Given the description of an element on the screen output the (x, y) to click on. 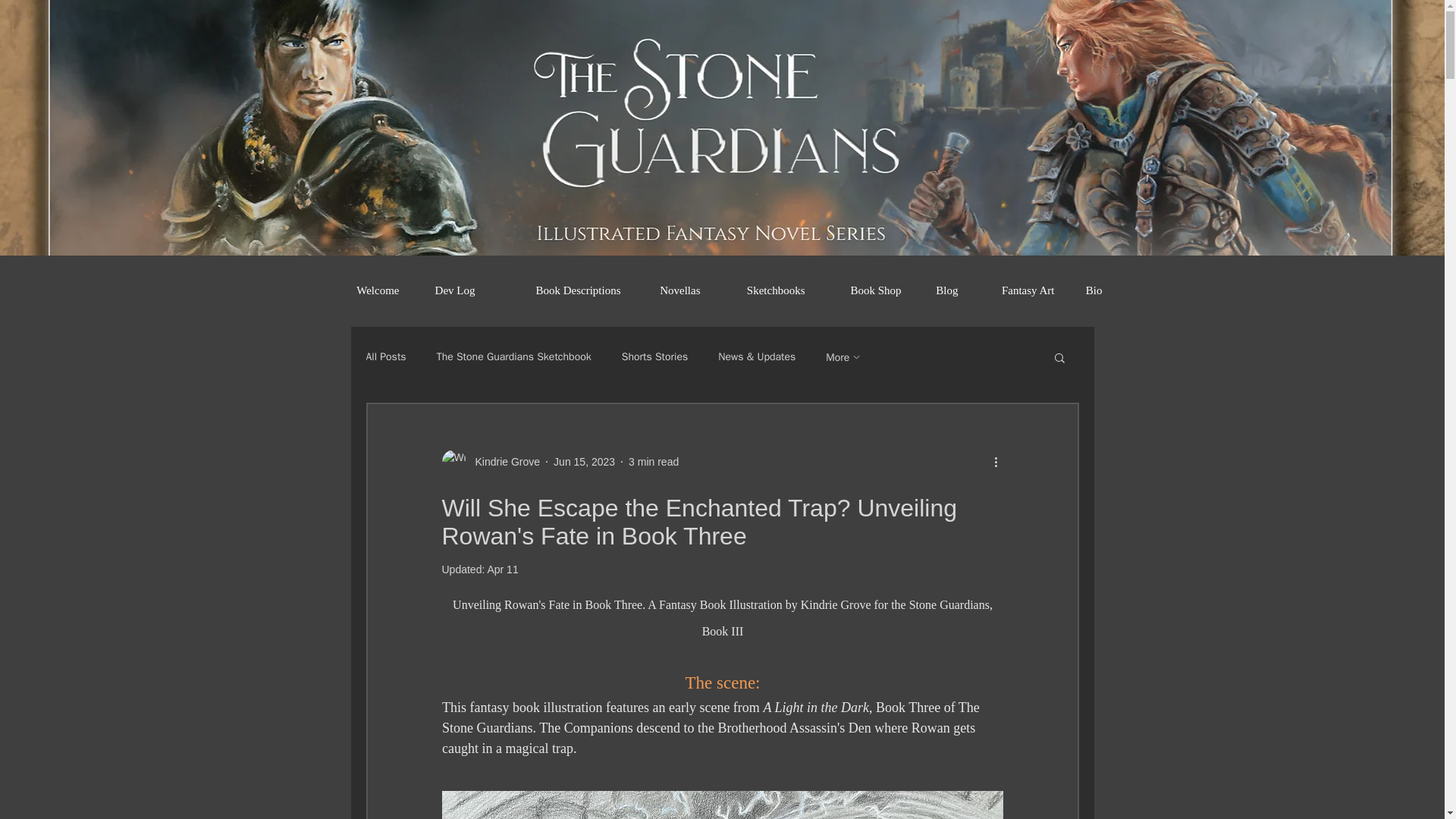
Jun 15, 2023 (583, 460)
Novellas (671, 290)
Sketchbooks (763, 290)
Fantasy Art (1017, 290)
The Stone Guardians Sketchbook (513, 356)
Welcome (369, 290)
Dev Log (448, 290)
Book Shop (863, 290)
Apr 11 (502, 569)
Kindrie Grove (490, 461)
